Given the description of an element on the screen output the (x, y) to click on. 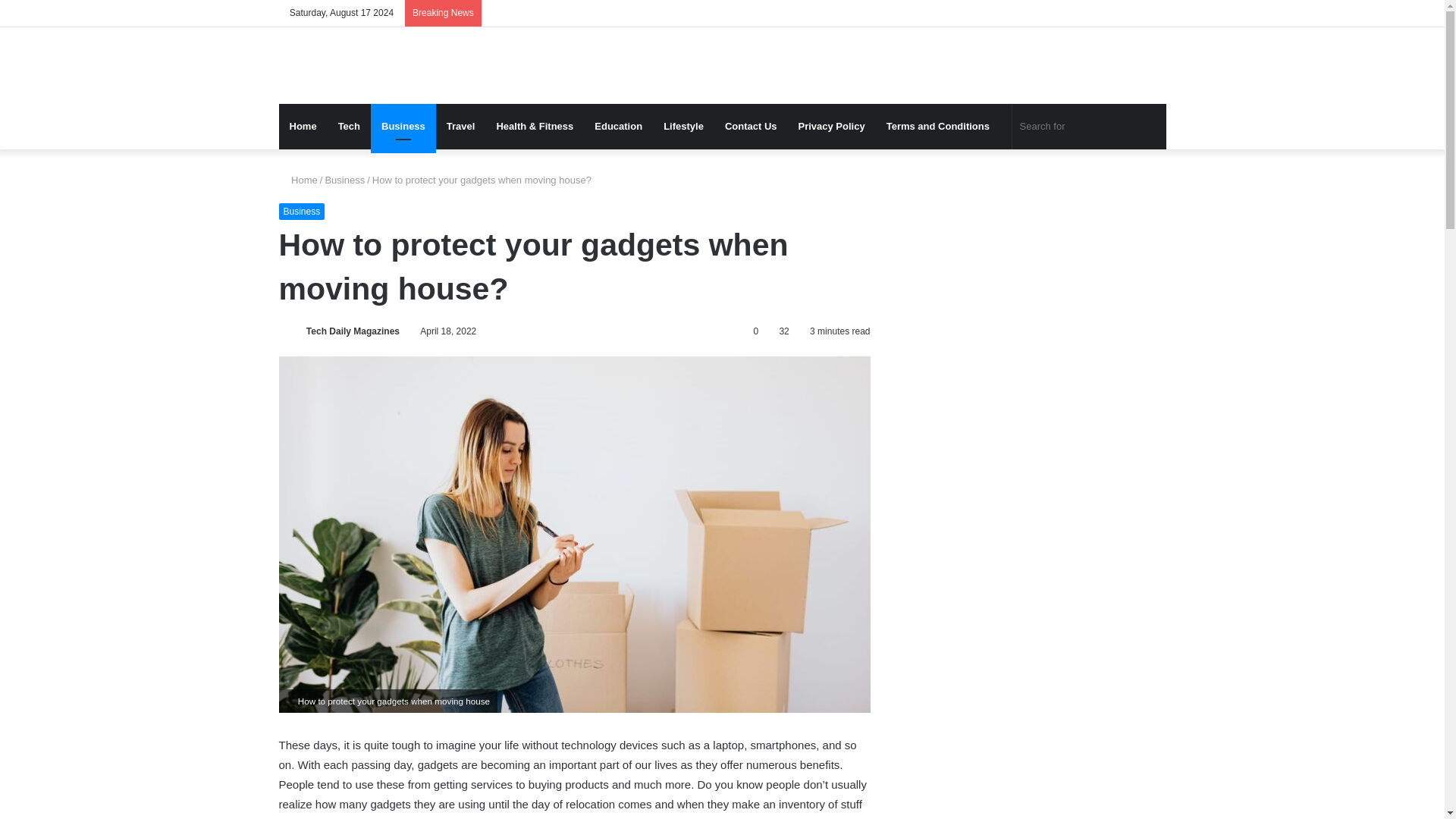
Lifestyle (683, 126)
Terms and Conditions  (939, 126)
Tech Daily Magazines (351, 330)
Business (344, 179)
Home (303, 126)
Tech Daily Magazines (351, 330)
Business (301, 211)
Tech (349, 126)
Search for (1088, 126)
Education (617, 126)
